Given the description of an element on the screen output the (x, y) to click on. 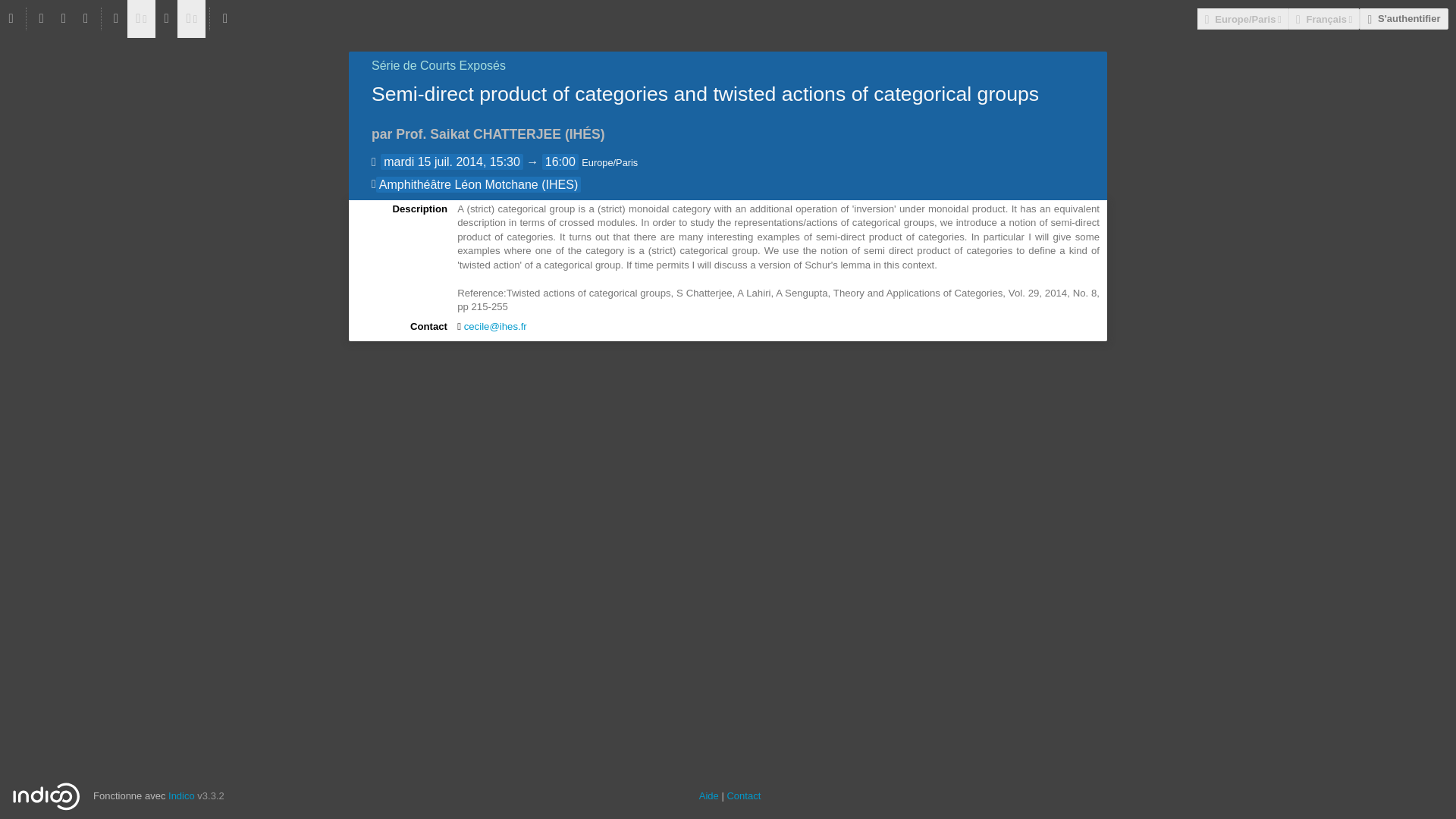
S'authentifier (1403, 19)
Aide (708, 795)
Contact (743, 795)
Version imprimable (116, 18)
Exporter (141, 18)
Indico (181, 795)
